Given the description of an element on the screen output the (x, y) to click on. 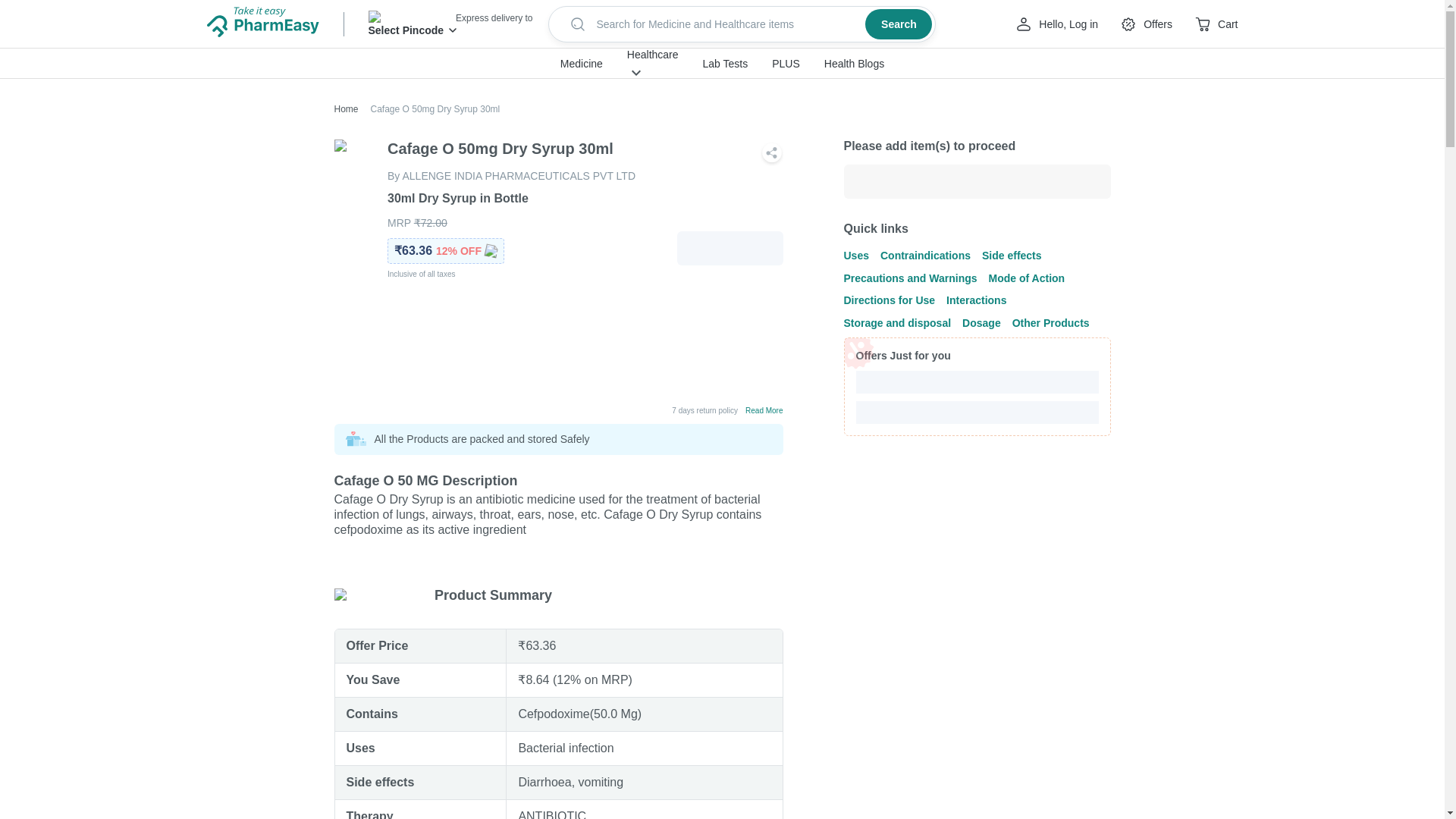
Medicine (581, 63)
PLUS (785, 63)
Healthcare (652, 54)
Home (345, 109)
Lab Tests (725, 63)
Side effects (379, 781)
Cafage O 50mg Dry Syrup 30ml (429, 109)
Offers (1145, 24)
Health Blogs (853, 63)
Cart (1215, 24)
